Given the description of an element on the screen output the (x, y) to click on. 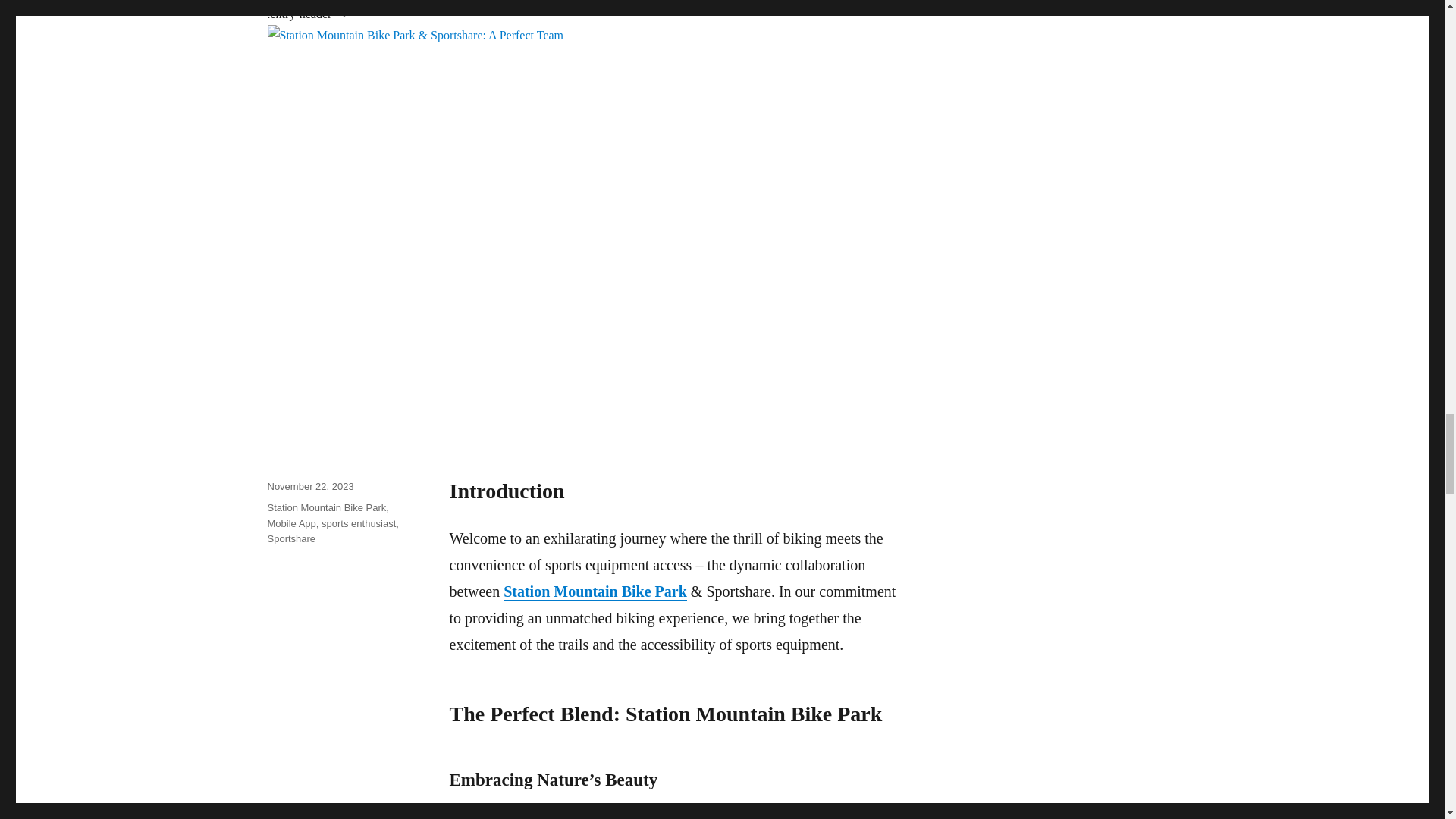
November 22, 2023 (309, 486)
sports enthusiast (358, 522)
Sportshare (290, 538)
Station Mountain Bike Park (595, 591)
Station Mountain Bike Park (325, 507)
Station Mountain Bike Park (785, 817)
Mobile App (290, 522)
